Given the description of an element on the screen output the (x, y) to click on. 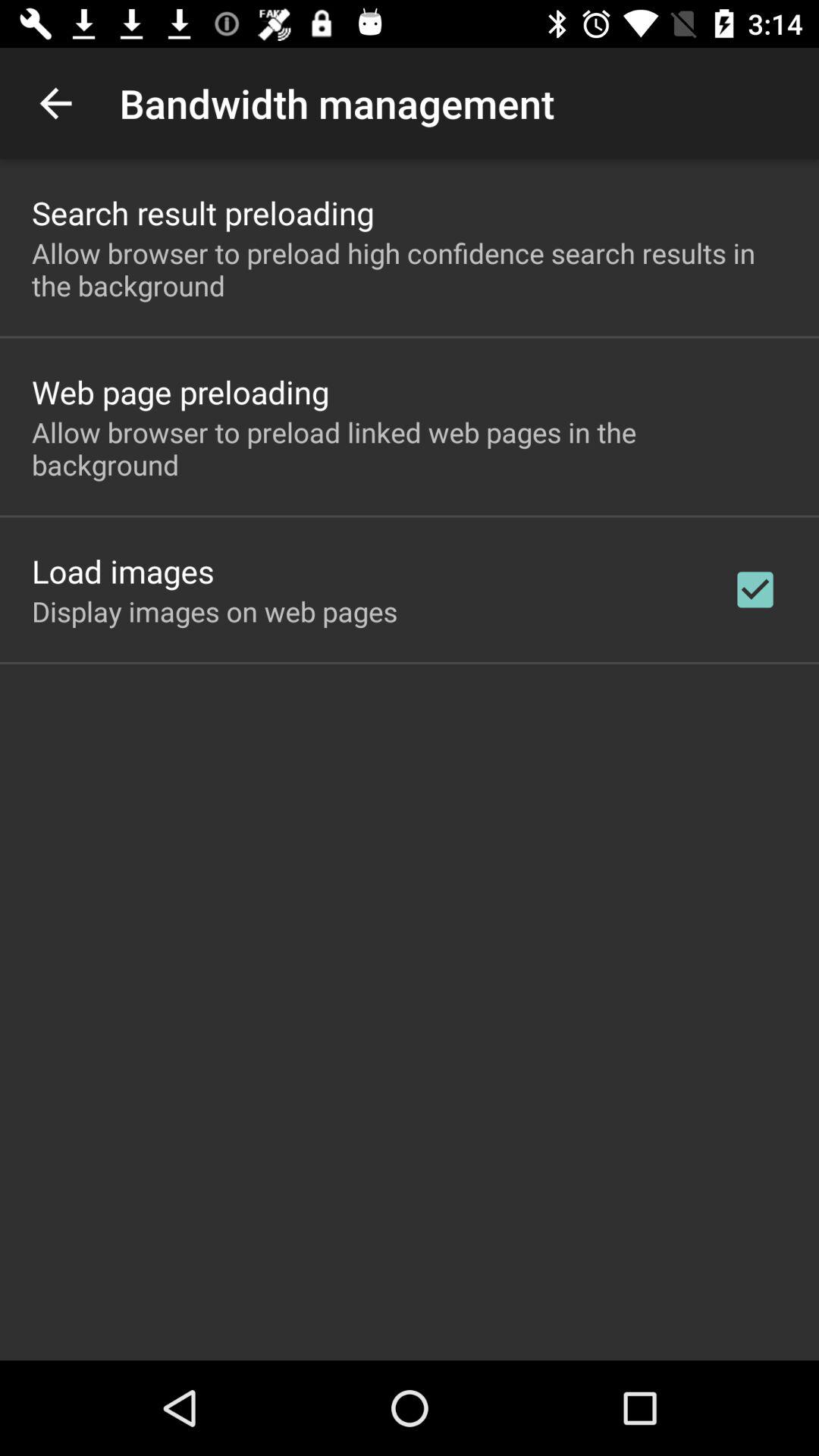
turn on the web page preloading item (180, 391)
